Given the description of an element on the screen output the (x, y) to click on. 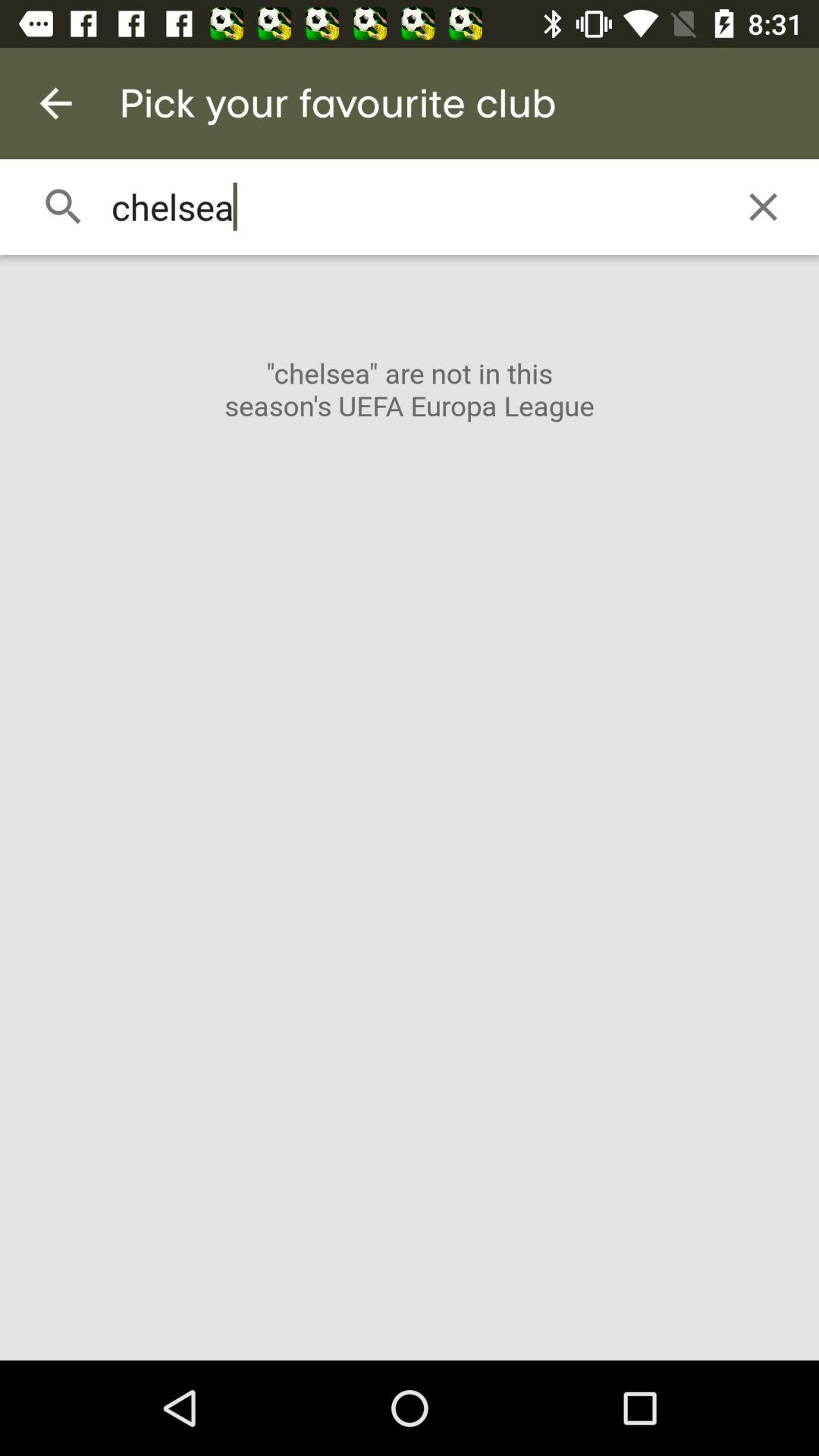
press icon above chelsea are not (763, 206)
